Given the description of an element on the screen output the (x, y) to click on. 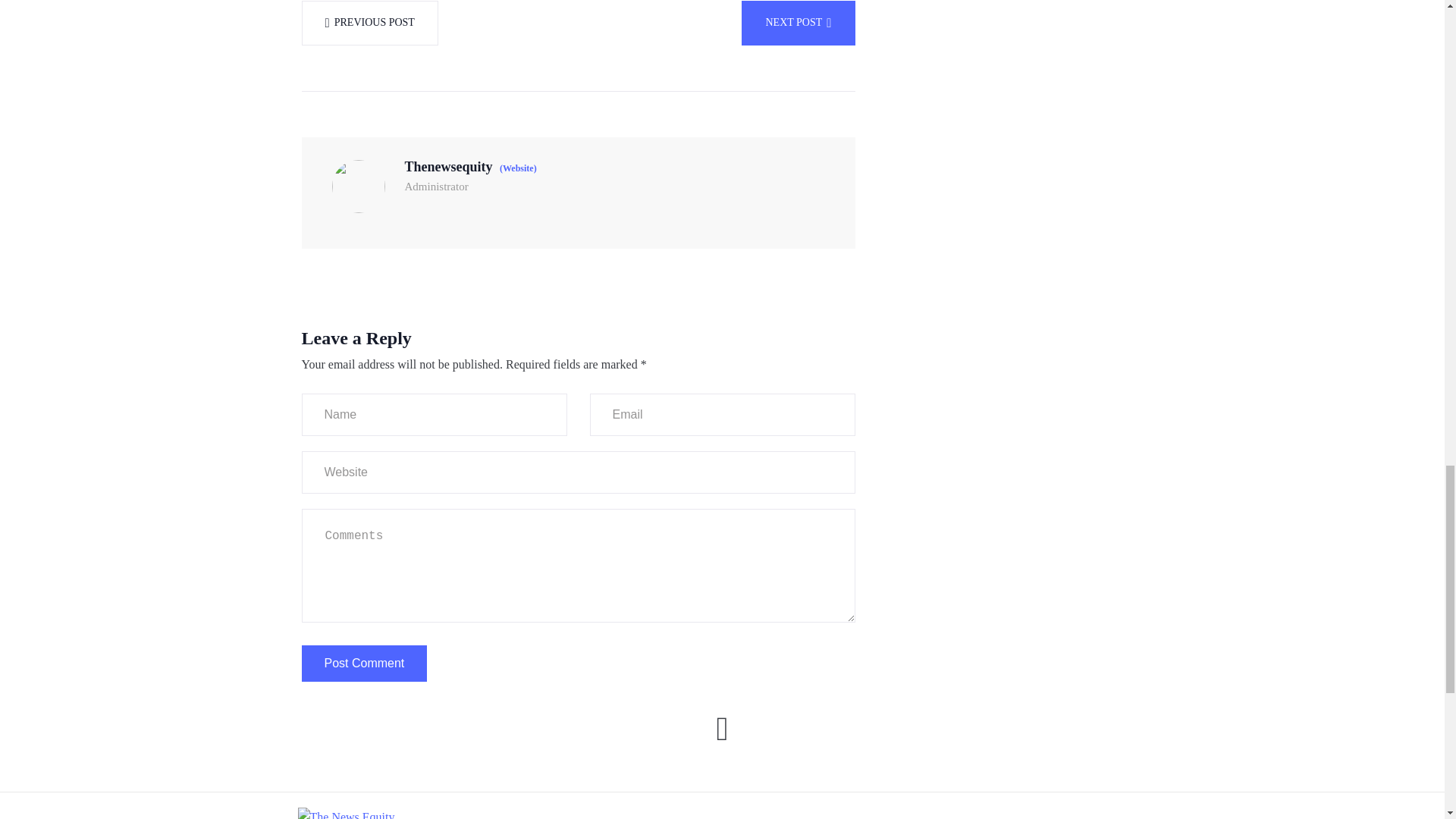
PREVIOUS POST (369, 22)
Post Comment (364, 662)
NEXT POST (797, 22)
Post Comment (364, 662)
